Given the description of an element on the screen output the (x, y) to click on. 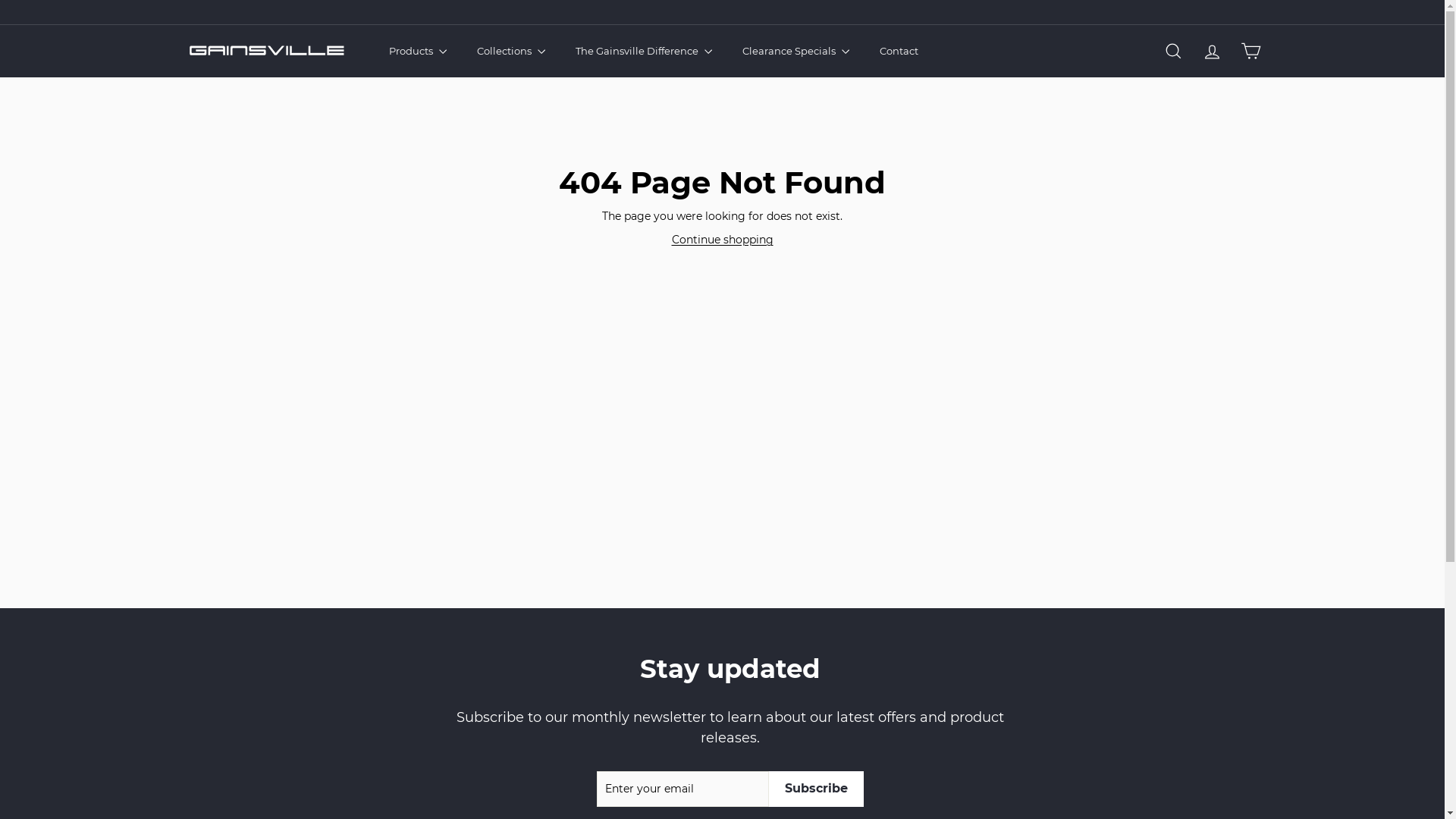
Continue shopping Element type: text (722, 239)
Contact Element type: text (898, 51)
Account Element type: text (1211, 50)
Search Element type: text (1173, 50)
Cart Element type: text (1250, 50)
Subscribe Element type: text (815, 788)
